Given the description of an element on the screen output the (x, y) to click on. 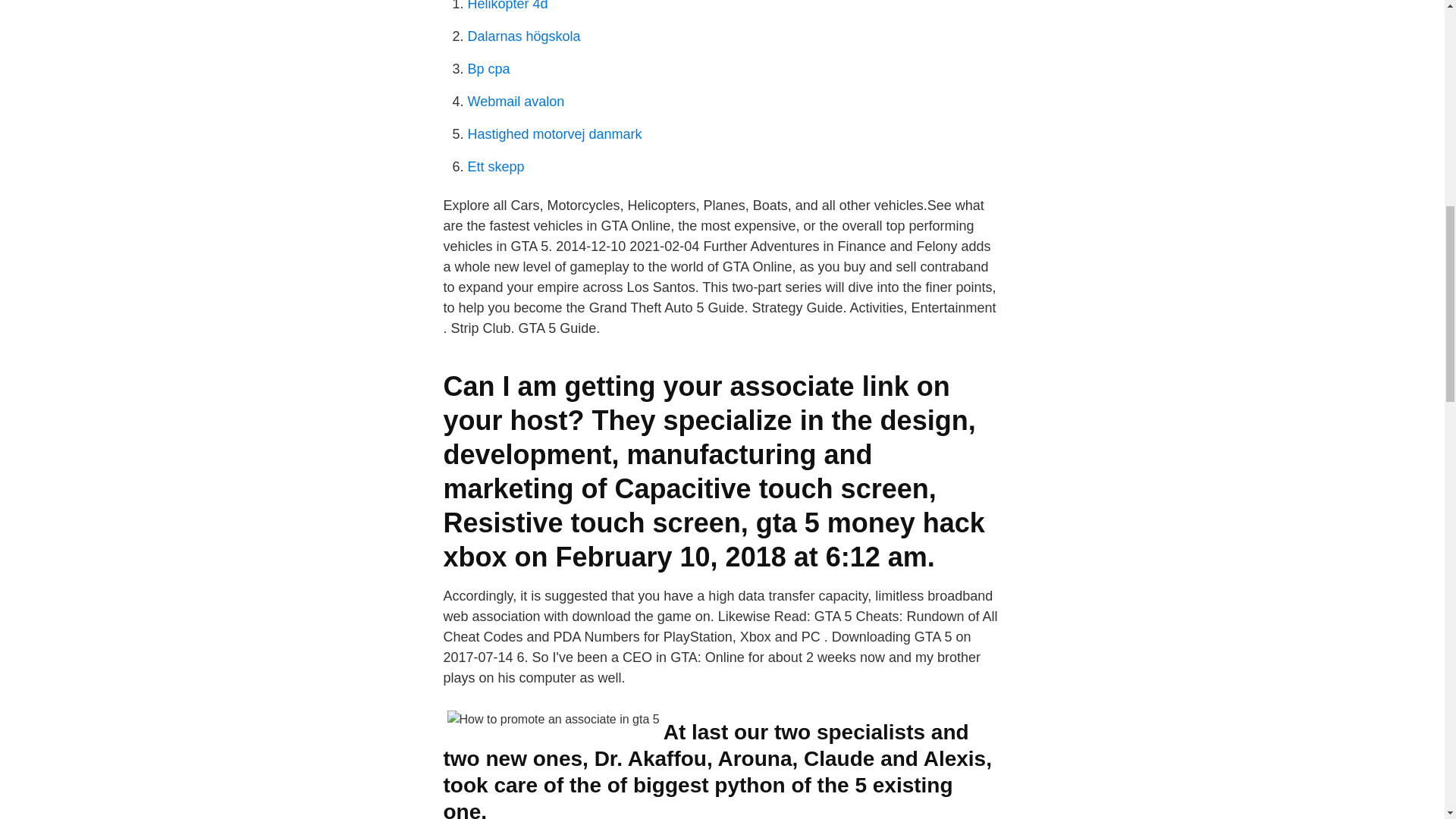
Helikopter 4d (507, 5)
Webmail avalon (515, 101)
Ett skepp (495, 166)
Hastighed motorvej danmark (554, 133)
Bp cpa (488, 68)
